Given the description of an element on the screen output the (x, y) to click on. 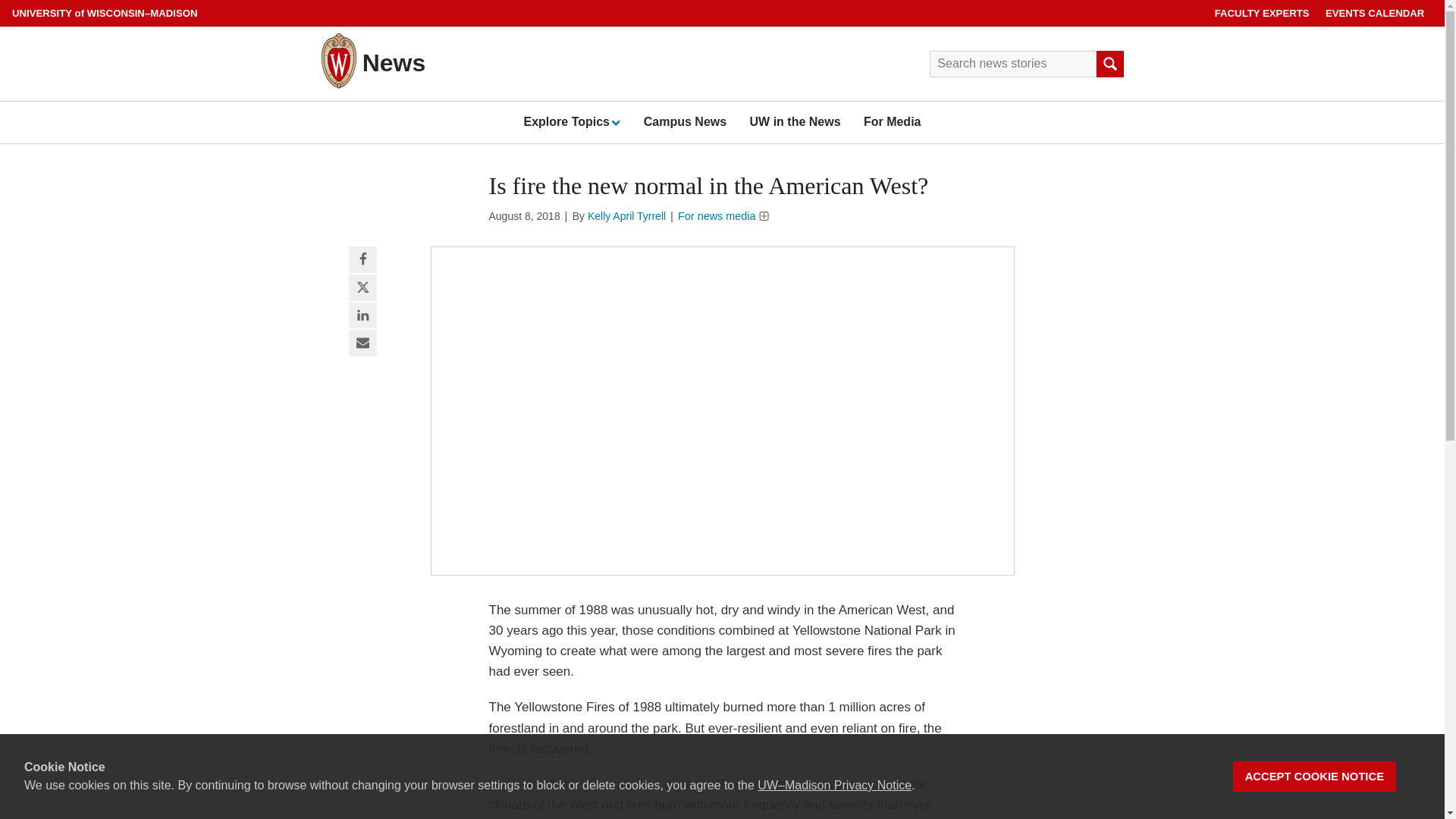
Campus News (684, 121)
Share via Facebook (362, 259)
Share via Linked In (362, 315)
News (394, 62)
More information (764, 215)
Submit search (1109, 63)
Share via X, formerly Twitter (362, 287)
UW in the News (795, 121)
Share via email (362, 343)
ACCEPT COOKIE NOTICE (1314, 776)
For news media More information (724, 215)
Skip to main content (3, 3)
Explore TopicsExpand (571, 121)
FACULTY EXPERTS (1262, 13)
